Given the description of an element on the screen output the (x, y) to click on. 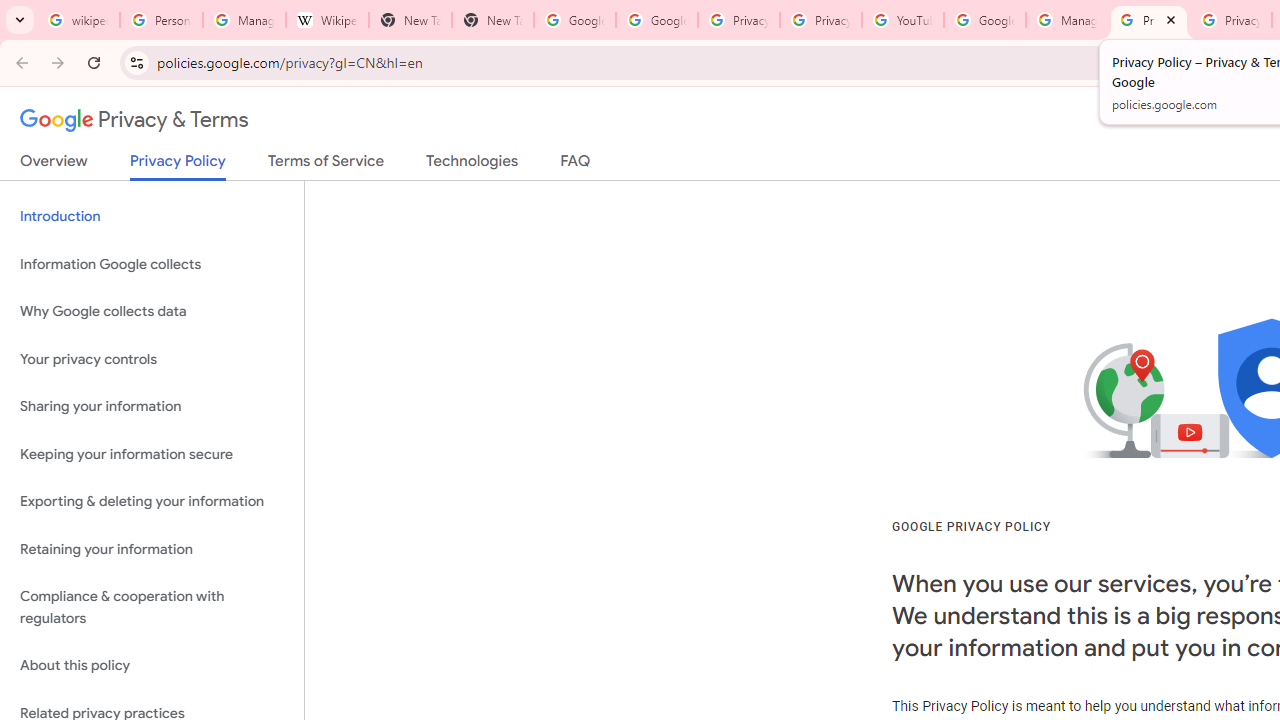
New Tab (409, 20)
